Given the description of an element on the screen output the (x, y) to click on. 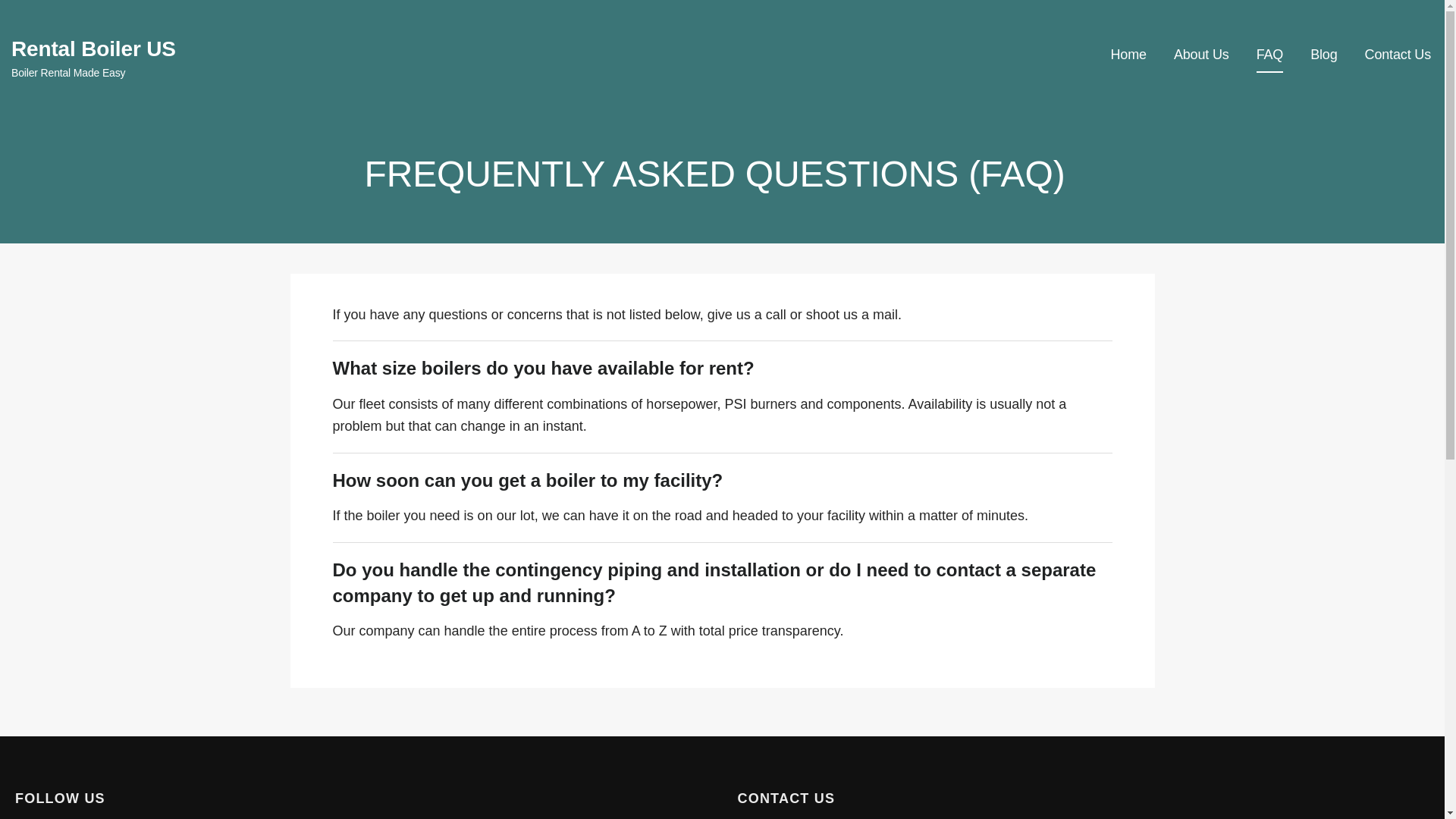
Contact Us (1398, 55)
About Us (1200, 55)
Home (1127, 55)
Rental Boiler US (93, 48)
